Given the description of an element on the screen output the (x, y) to click on. 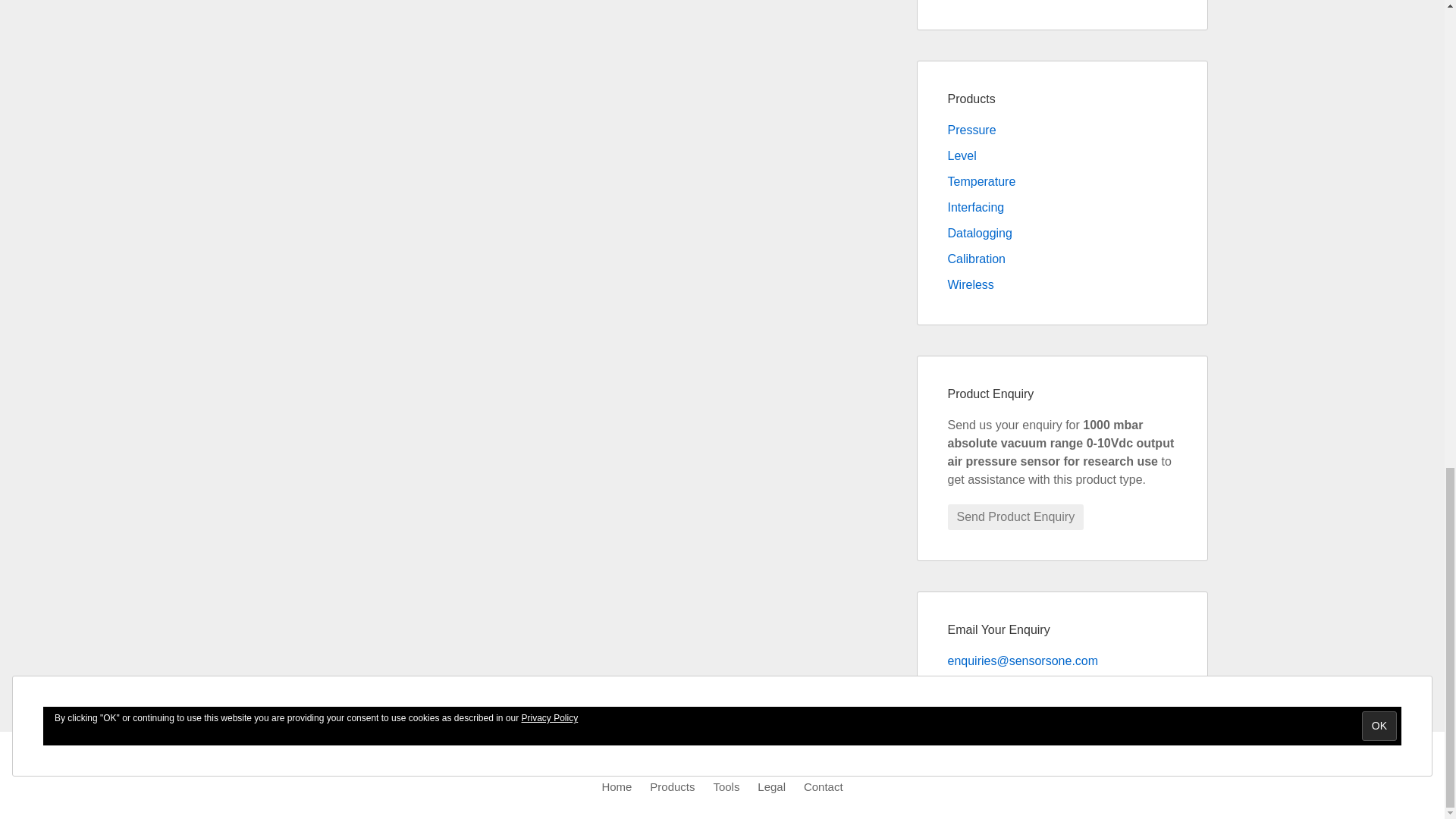
Datalogging (979, 232)
Pressure (971, 129)
Tools (726, 787)
Legal (771, 787)
Interfacing (975, 206)
Send Product Enquiry (1015, 516)
Wireless (970, 284)
Send Product Enquiry (1015, 516)
Home (616, 787)
Products (671, 787)
Level (961, 155)
Calibration (976, 258)
Temperature (981, 181)
Contact (823, 787)
